Given the description of an element on the screen output the (x, y) to click on. 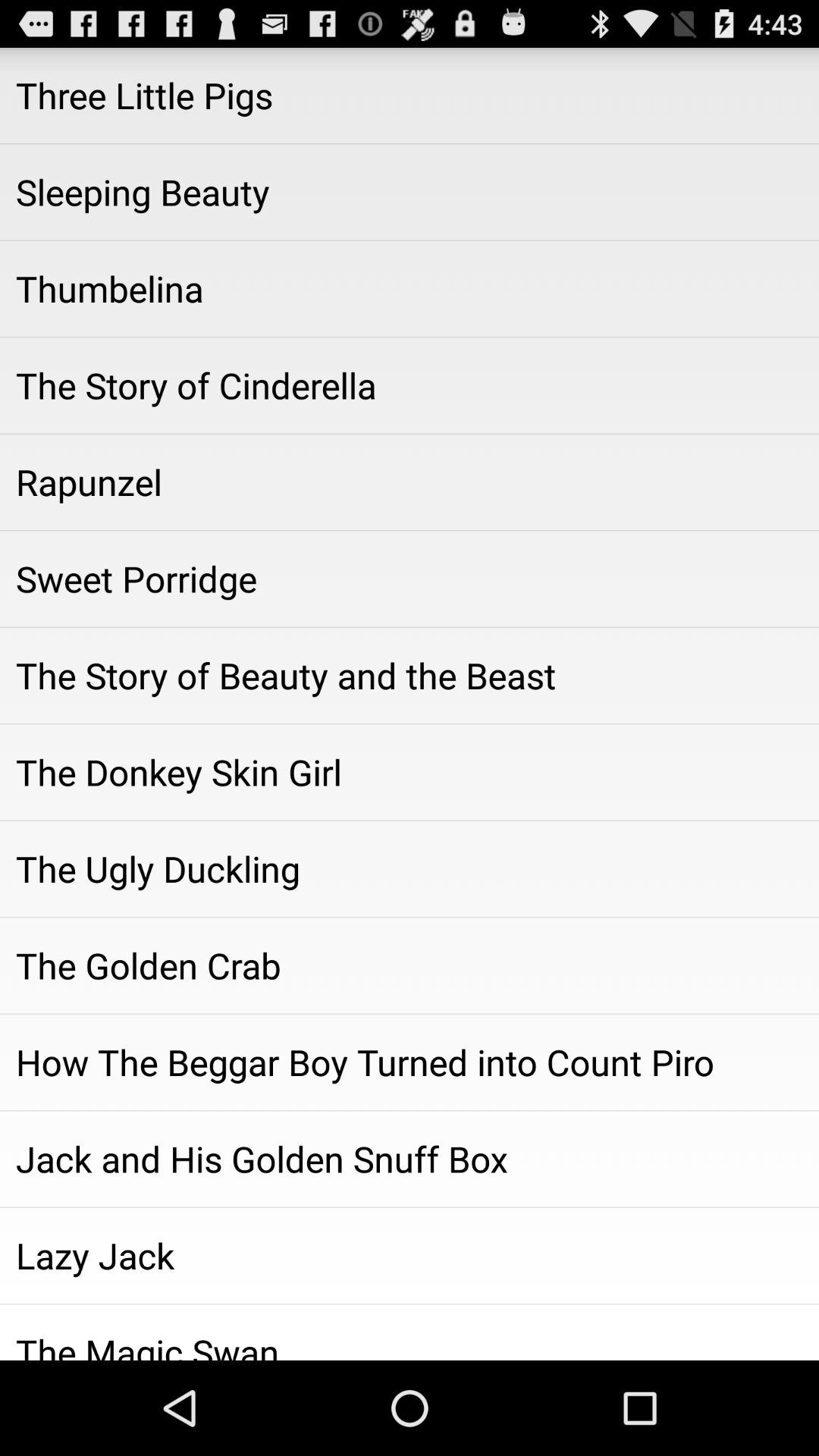
select app above the the magic swan app (409, 1255)
